Given the description of an element on the screen output the (x, y) to click on. 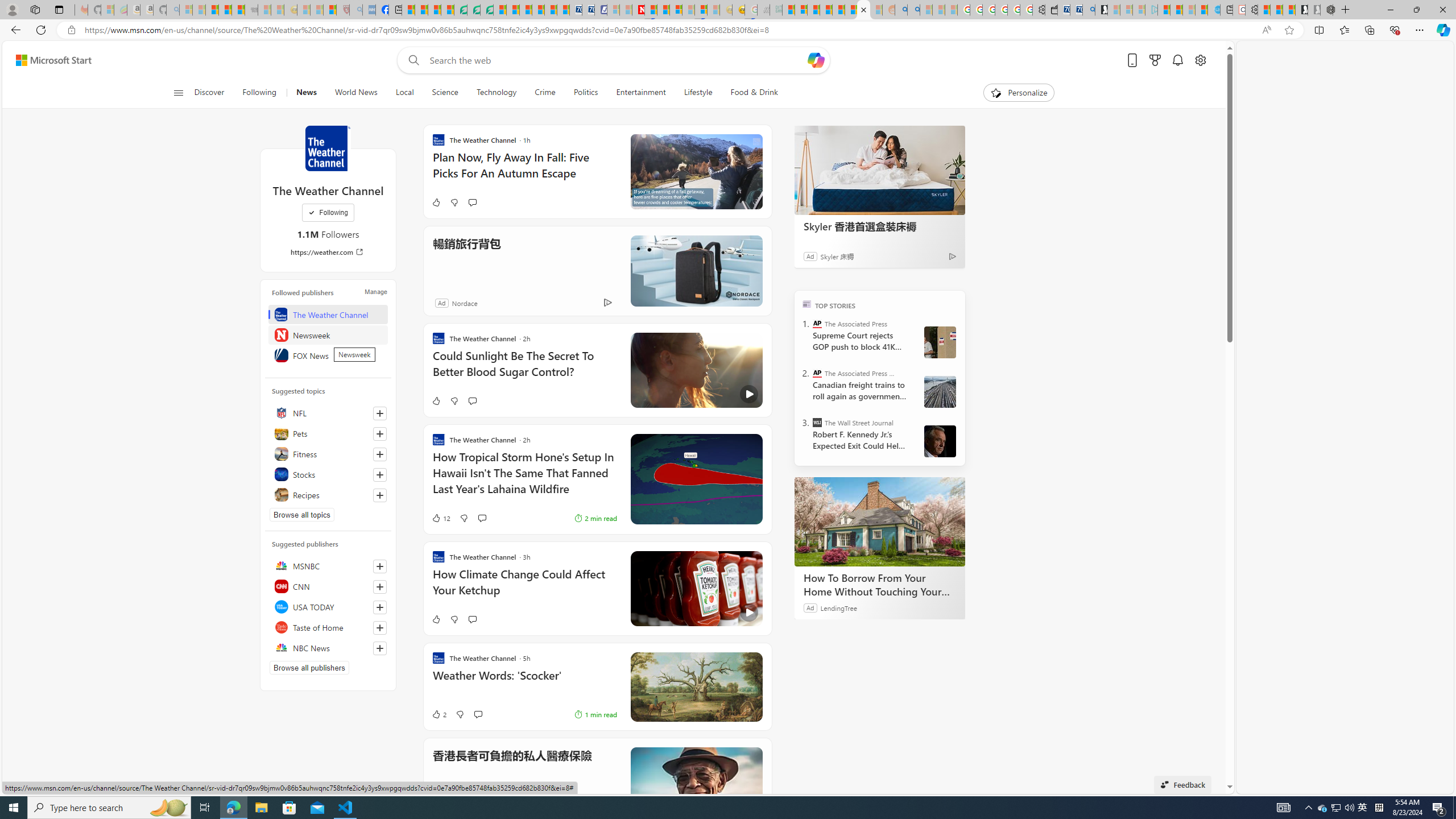
2 Like (438, 714)
Student Loan Update: Forgiveness Program Ends This Month (826, 9)
 Canada Railroads Unions (940, 391)
LendingTree - Compare Lenders (460, 9)
